Given the description of an element on the screen output the (x, y) to click on. 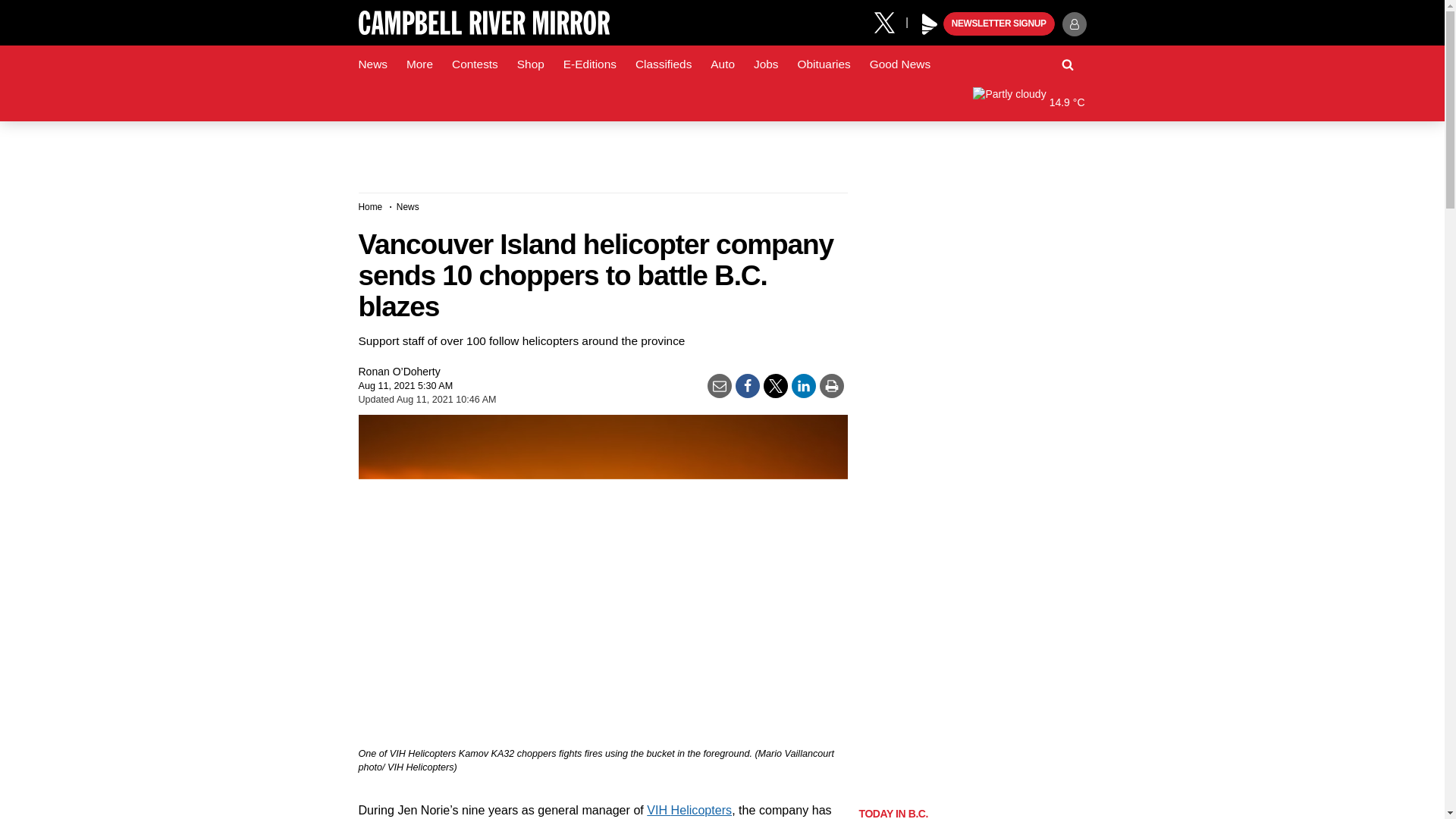
Black Press Media (929, 24)
News (372, 64)
Play (929, 24)
X (889, 21)
NEWSLETTER SIGNUP (998, 24)
